Given the description of an element on the screen output the (x, y) to click on. 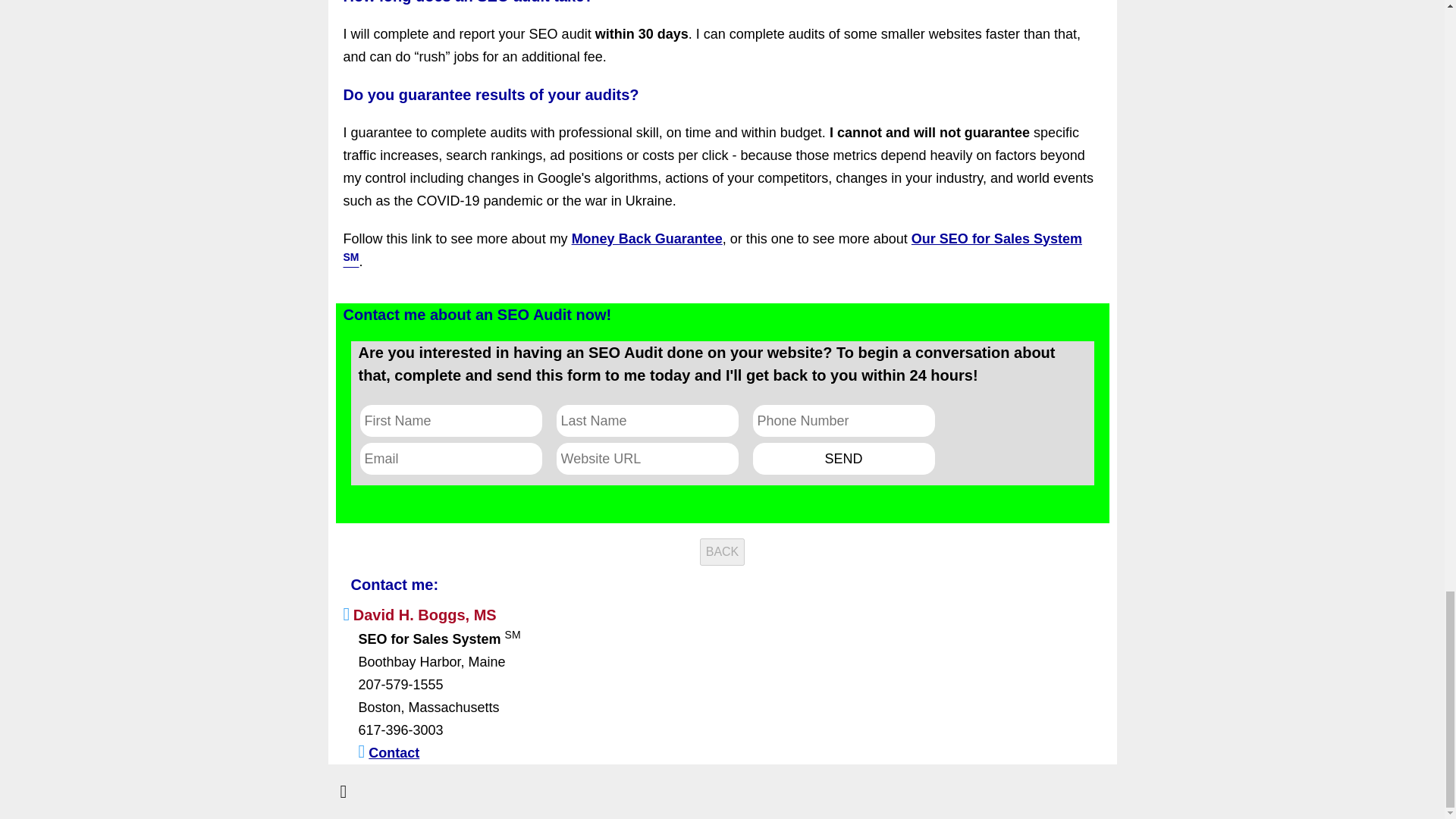
Our SEO for Sales System SM (711, 249)
SEND (843, 459)
SEND (843, 459)
BACK (722, 551)
Money Back Guarantee (647, 238)
Contact (393, 752)
